Given the description of an element on the screen output the (x, y) to click on. 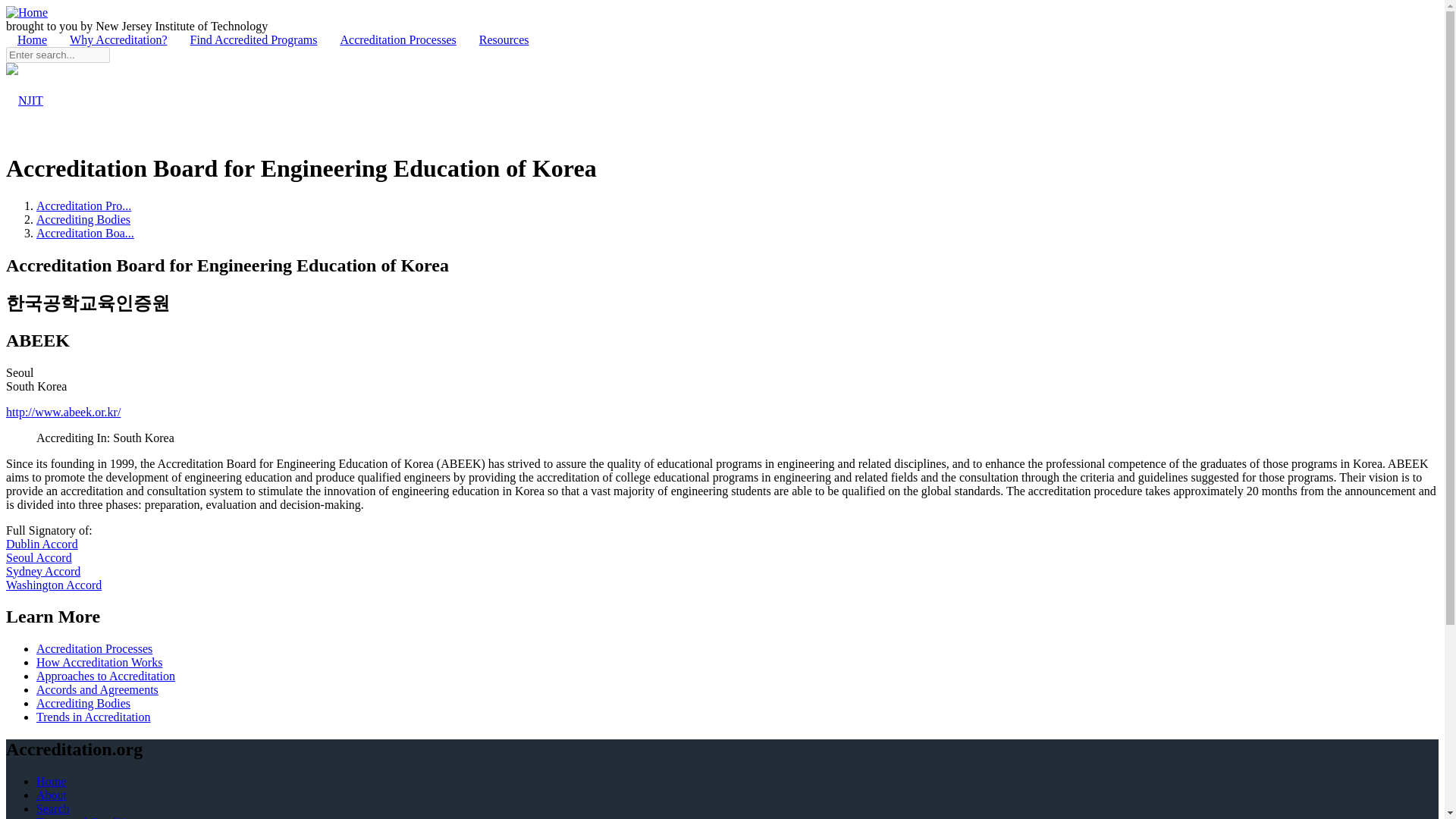
Search (27, 70)
Accreditation Processes (94, 648)
Accreditation Processes (398, 39)
How Accreditation Works (98, 662)
Approaches to Accreditation (105, 675)
Home (31, 39)
Dublin Accord (41, 543)
Enter the terms you wish to search for. (57, 54)
Accords and Agreements (97, 689)
Accrediting Bodies (83, 703)
